Given the description of an element on the screen output the (x, y) to click on. 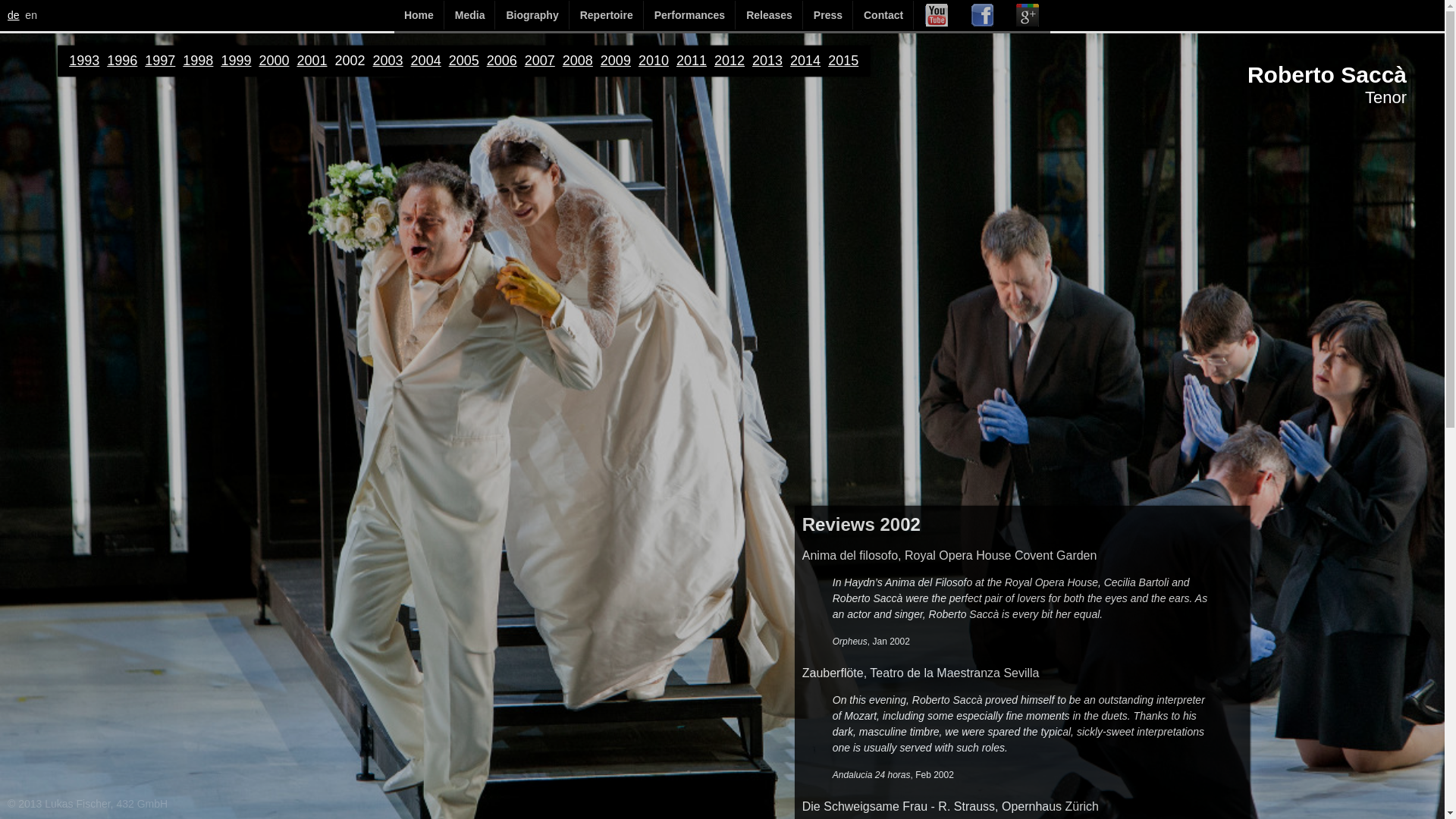
2000 (273, 60)
Press (828, 14)
1999 (235, 60)
2013 (767, 60)
Youtube (935, 15)
2009 (614, 60)
Performances (689, 14)
Biography (532, 14)
de (13, 15)
2003 (387, 60)
2004 (425, 60)
Facebook (981, 15)
Repertoire (606, 14)
1996 (121, 60)
2012 (729, 60)
